Given the description of an element on the screen output the (x, y) to click on. 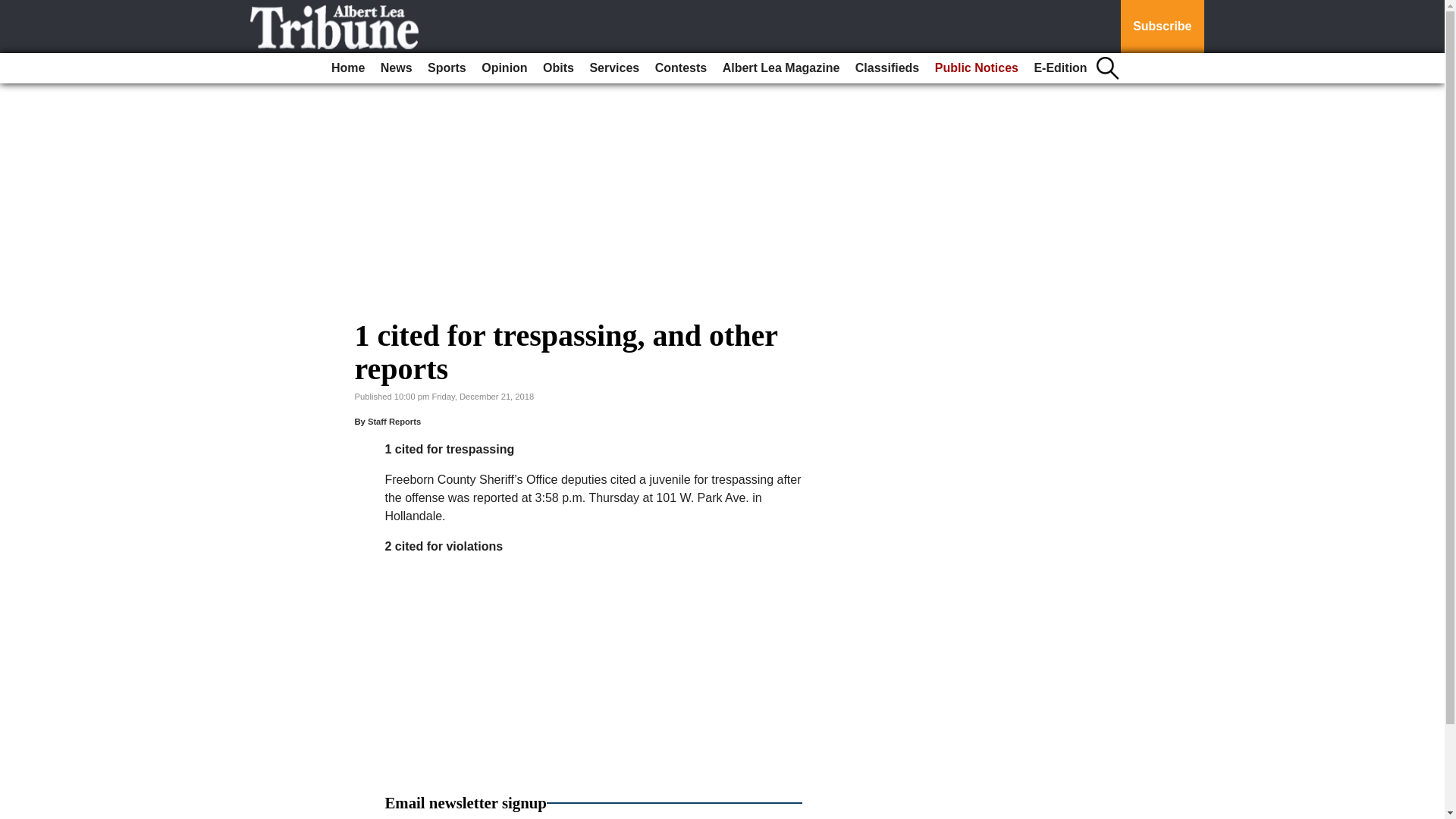
Obits (558, 68)
Services (614, 68)
Sports (446, 68)
News (396, 68)
Home (347, 68)
Subscribe (1162, 26)
Opinion (504, 68)
